Given the description of an element on the screen output the (x, y) to click on. 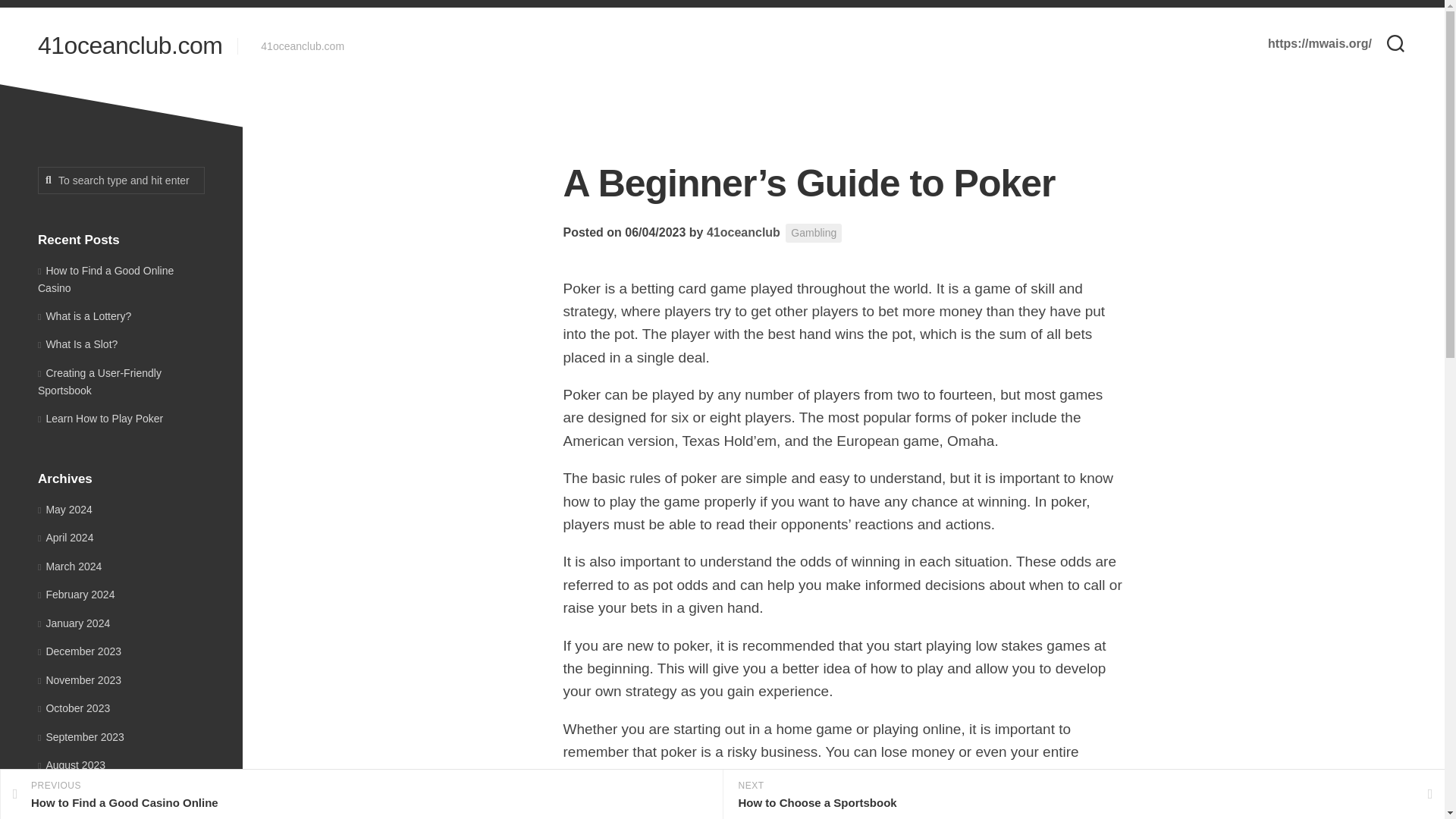
October 2023 (73, 707)
September 2023 (80, 736)
What Is a Slot? (77, 344)
June 2023 (66, 817)
March 2024 (69, 565)
May 2024 (65, 509)
To search type and hit enter (121, 180)
Learn How to Play Poker (100, 418)
41oceanclub.com (129, 44)
January 2024 (73, 623)
